Given the description of an element on the screen output the (x, y) to click on. 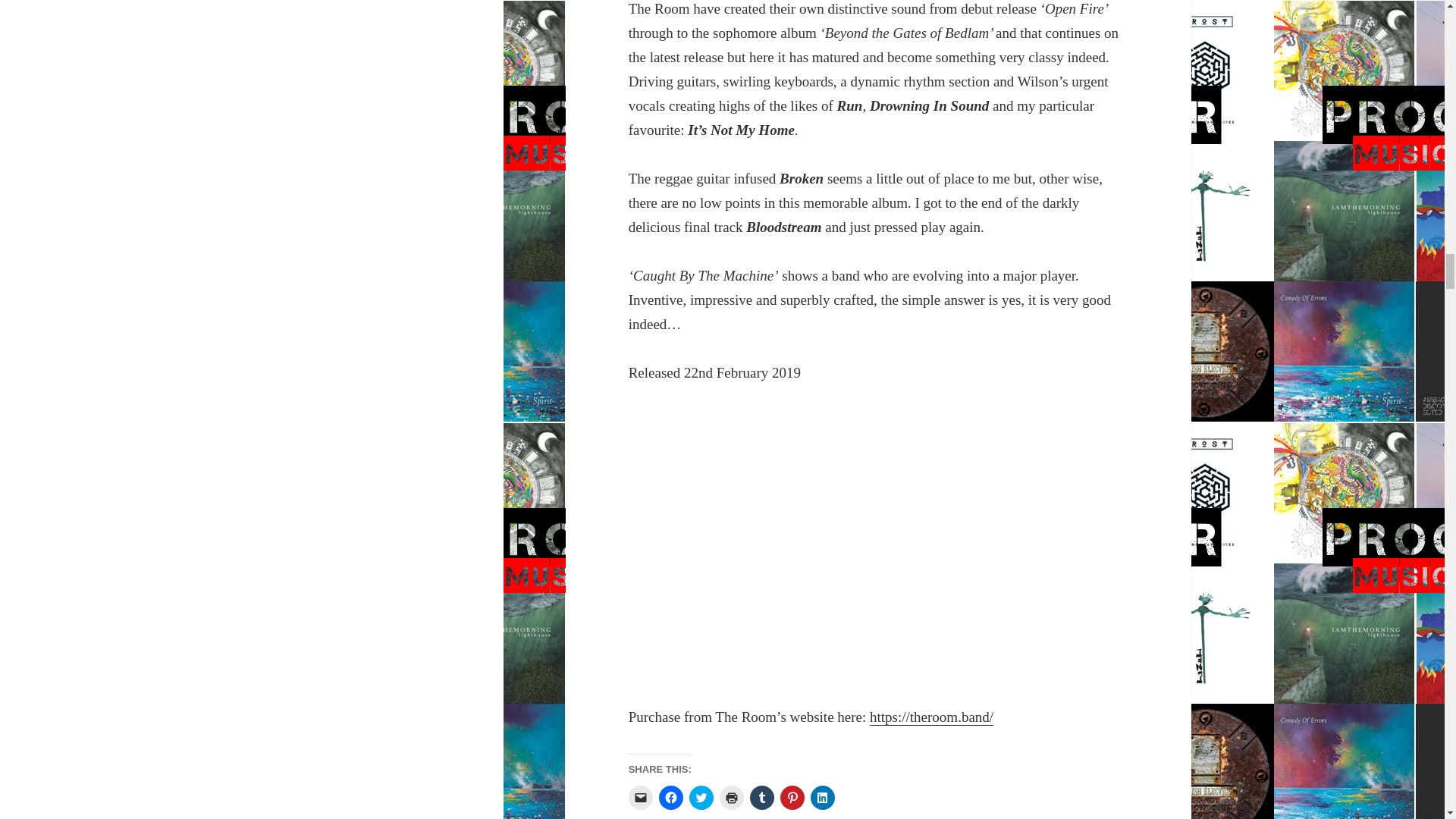
Click to print (731, 797)
Click to share on Facebook (670, 797)
Click to share on Pinterest (792, 797)
Click to share on Tumblr (761, 797)
Click to share on Twitter (700, 797)
Click to email a link to a friend (640, 797)
Click to share on LinkedIn (822, 797)
